Given the description of an element on the screen output the (x, y) to click on. 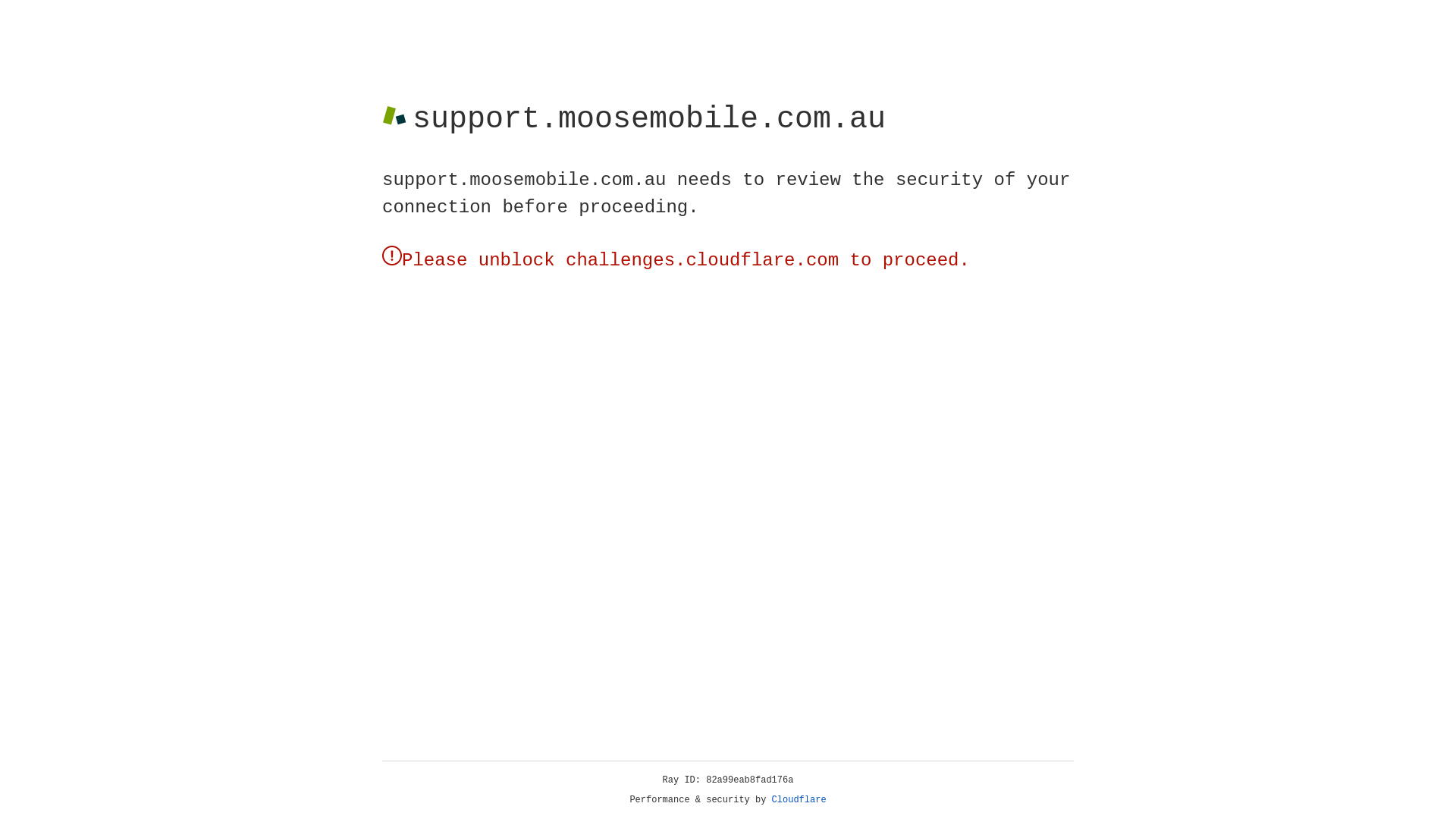
Cloudflare Element type: text (798, 799)
